Given the description of an element on the screen output the (x, y) to click on. 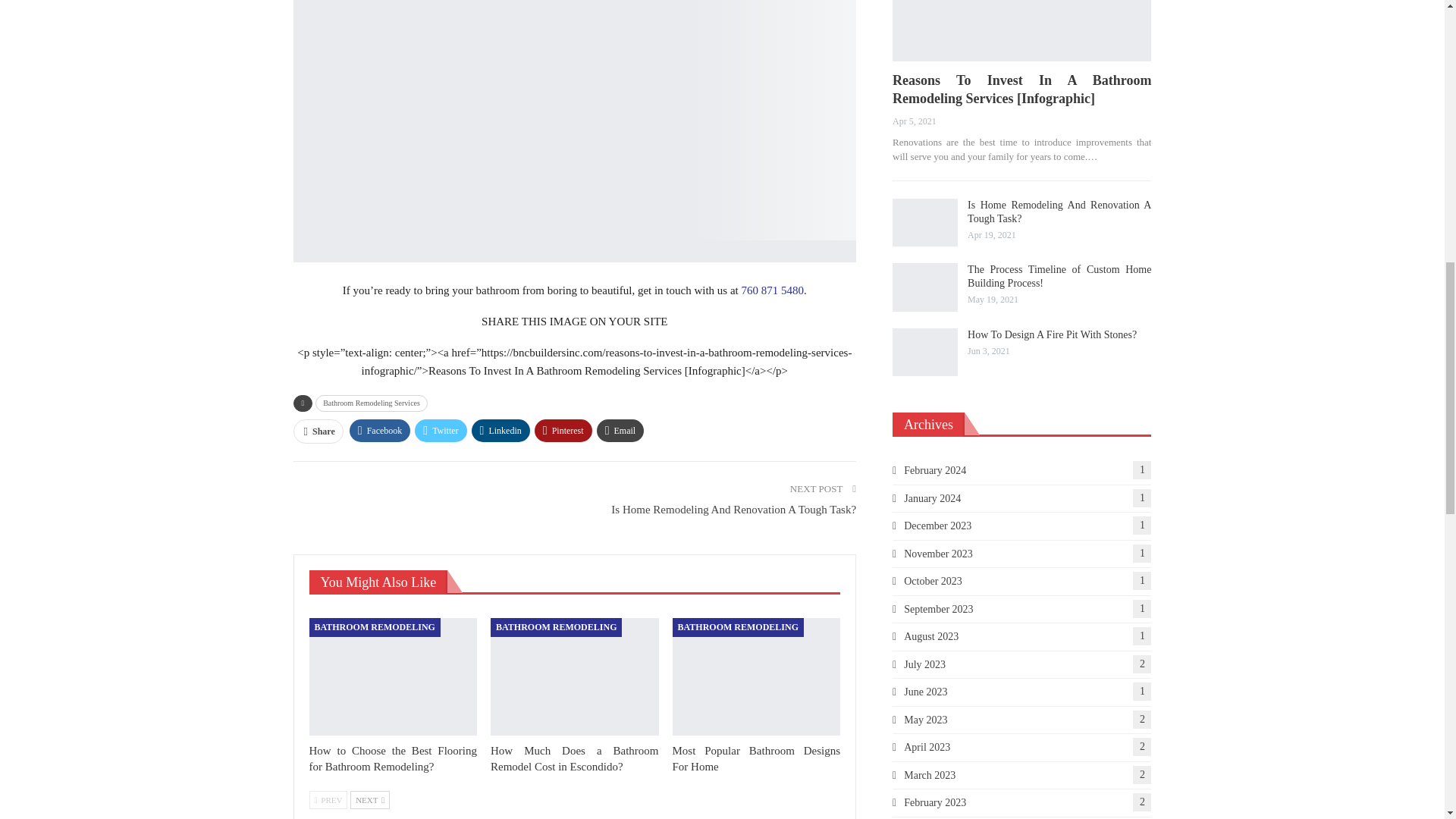
How to Choose the Best Flooring for Bathroom Remodeling? (392, 676)
Is Home Remodeling And Renovation A Tough Task? (925, 223)
BATHROOM REMODELING (737, 627)
How Much Does a Bathroom Remodel Cost in Escondido? (574, 758)
Pinterest (563, 430)
Most Popular Bathroom Designs For Home (756, 676)
How to Choose the Best Flooring for Bathroom Remodeling? (392, 758)
How to Choose the Best Flooring for Bathroom Remodeling? (392, 758)
Email (620, 430)
The Process Timeline of Custom Home Building Process! (925, 287)
BATHROOM REMODELING (374, 627)
Bathroom Remodeling Services (371, 402)
Facebook (379, 430)
BATHROOM REMODELING (555, 627)
Next (370, 800)
